Given the description of an element on the screen output the (x, y) to click on. 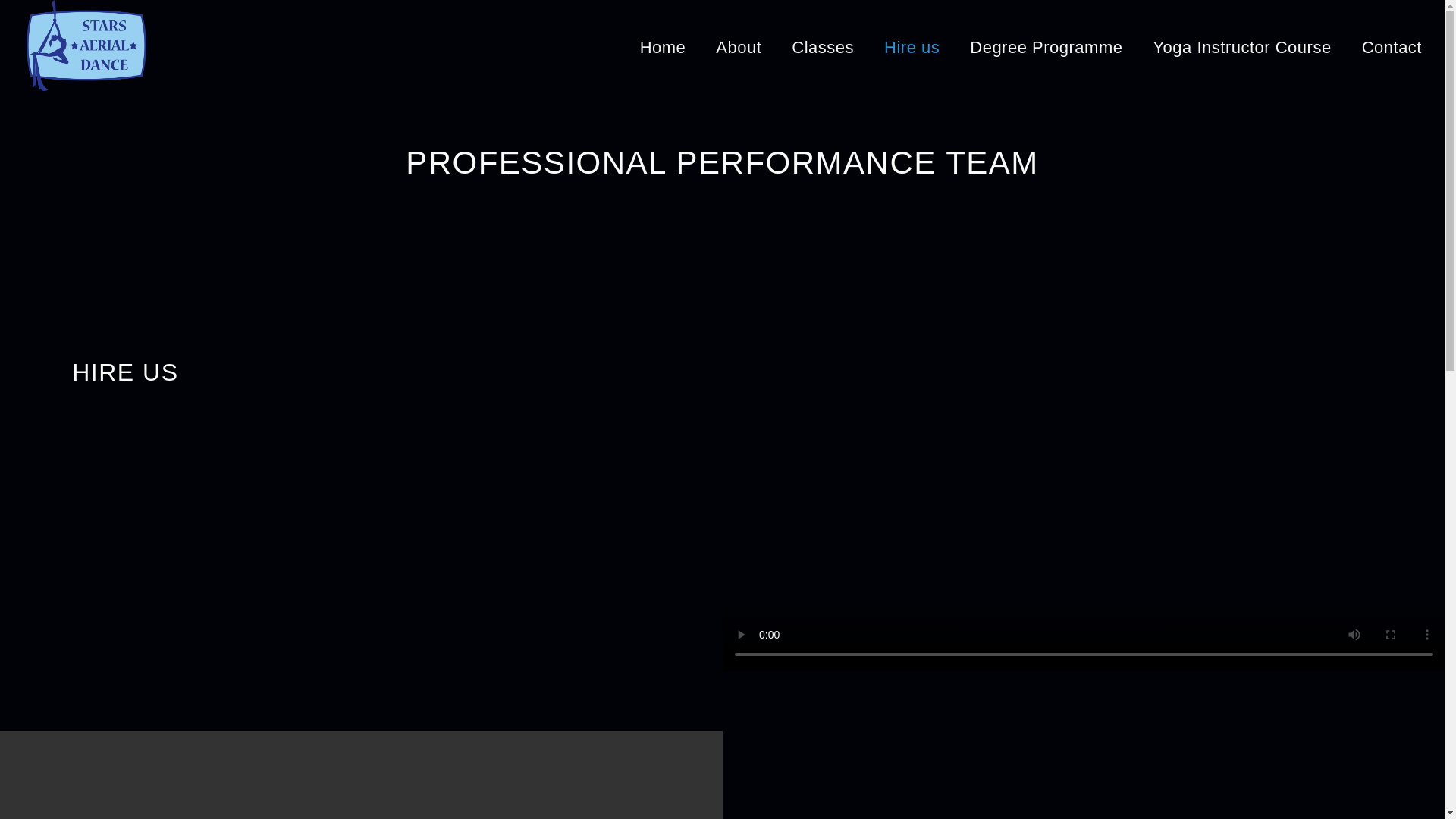
Yoga Instructor Course (1241, 47)
Hire us (911, 47)
Contact (1391, 47)
Degree Programme (1045, 47)
About (737, 47)
Classes (822, 47)
Contact (1391, 47)
Degree Programme (1045, 47)
Hire us (911, 47)
Home (662, 47)
Yoga Instructor Course (1241, 47)
Classes (822, 47)
Home (662, 47)
About (737, 47)
